Given the description of an element on the screen output the (x, y) to click on. 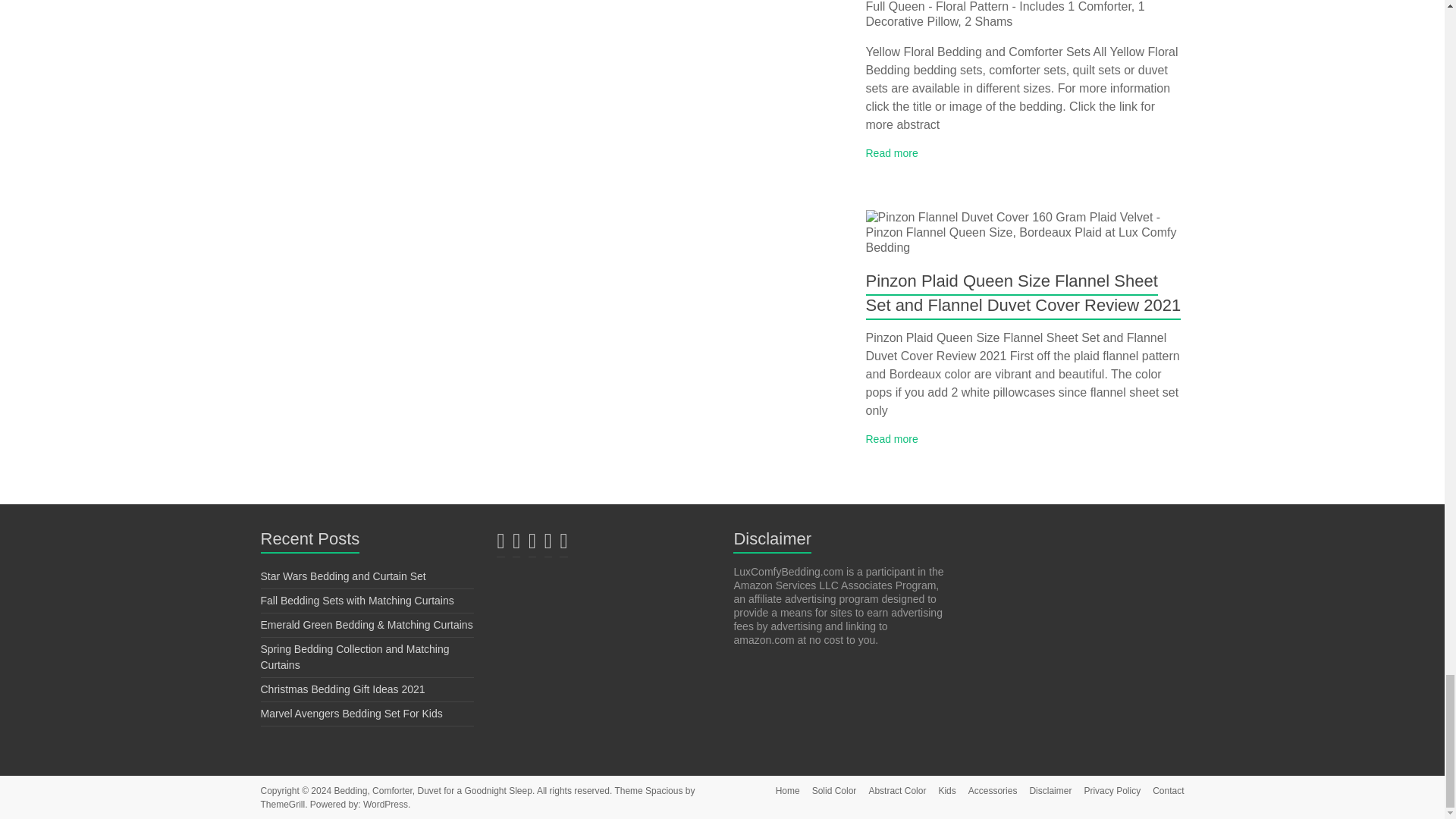
Yellow Floral Bedding (1025, 14)
